Given the description of an element on the screen output the (x, y) to click on. 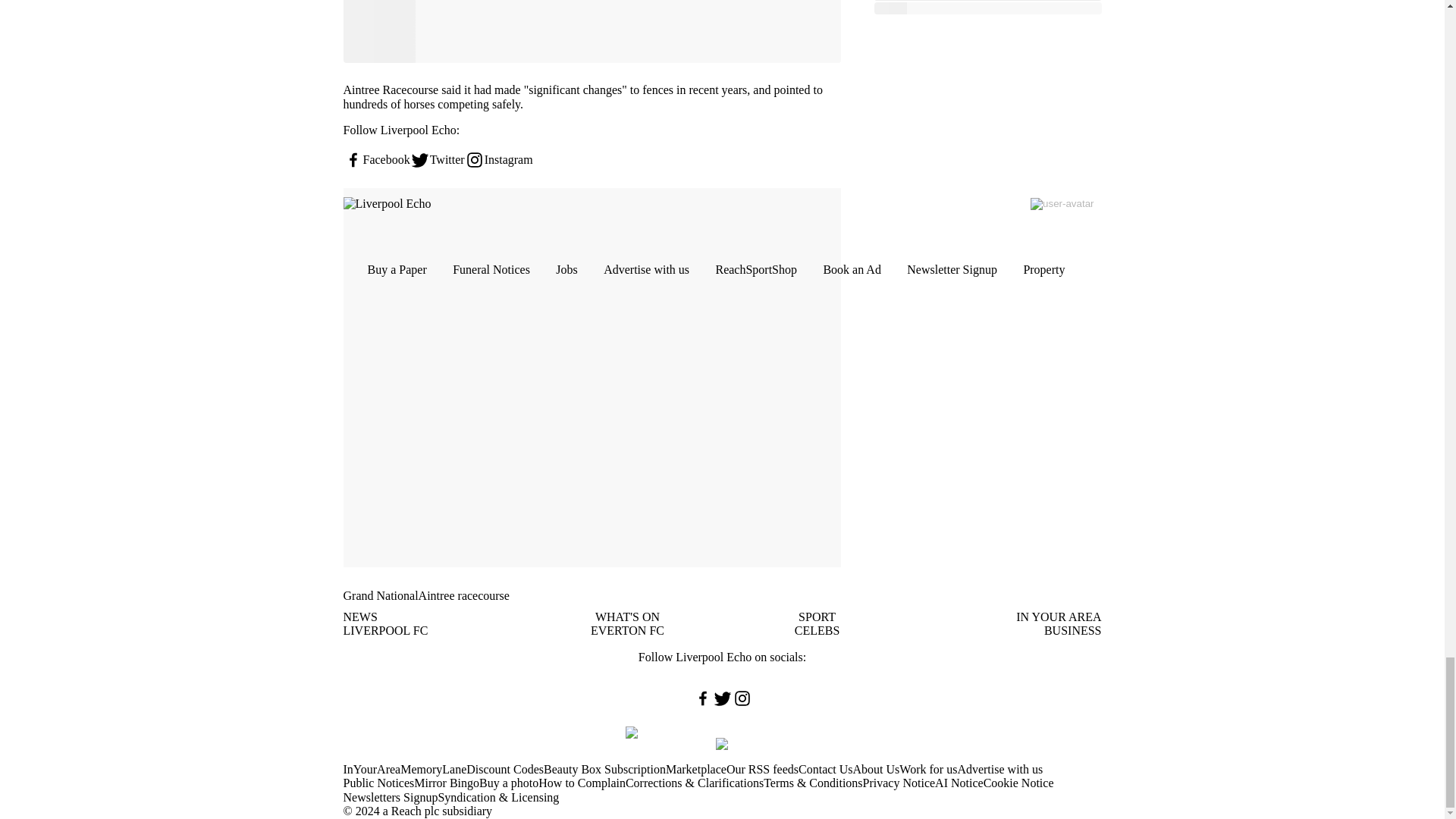
IN YOUR AREA (1058, 616)
Facebook (375, 159)
Grand National (379, 595)
NEWS (359, 616)
WHAT'S ON (627, 616)
Aintree racecourse (464, 595)
Instagram (498, 159)
Twitter (437, 159)
SPORT (816, 616)
